Given the description of an element on the screen output the (x, y) to click on. 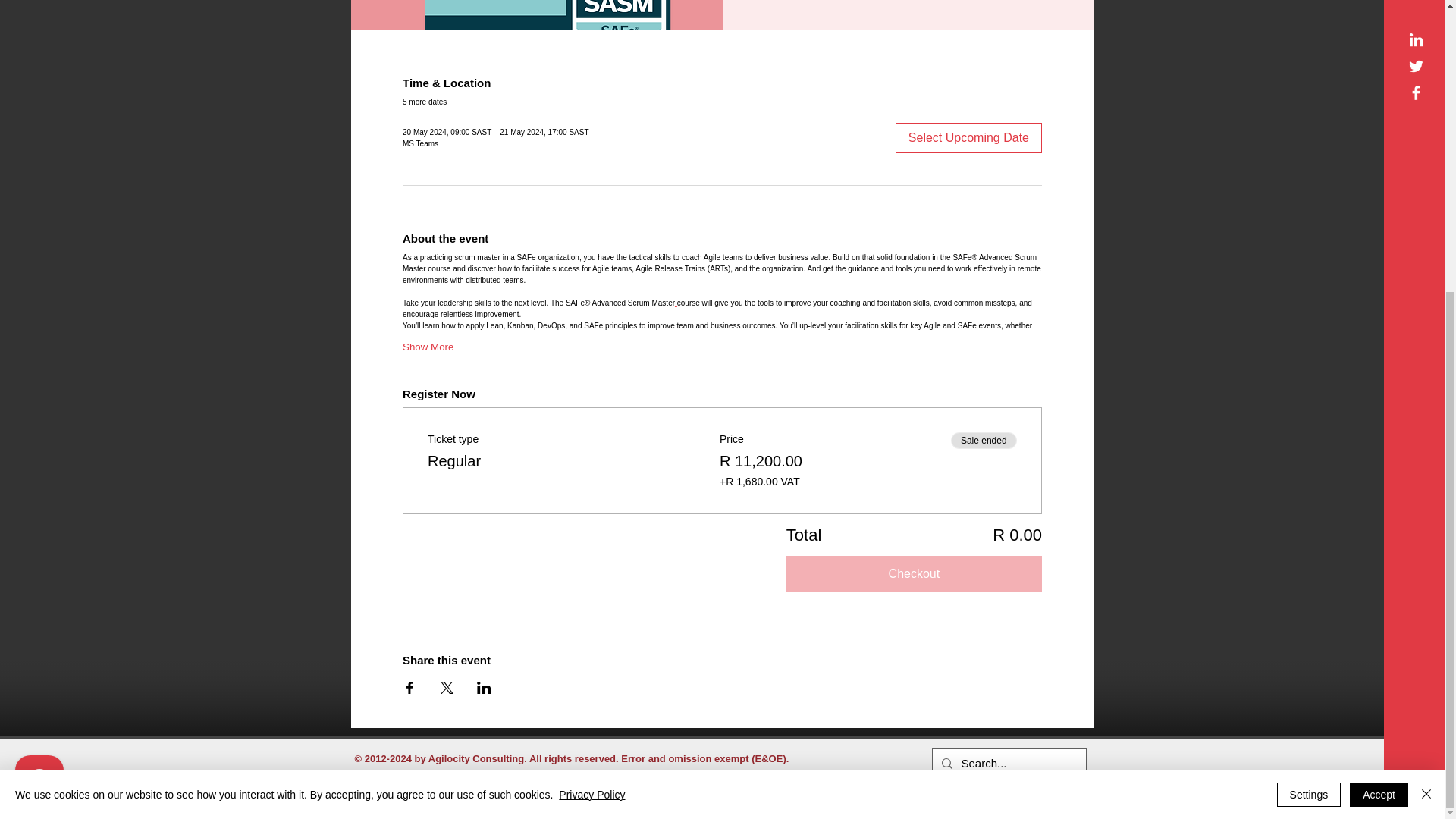
Wix Chat (35, 337)
Select Upcoming Date (968, 137)
Show More (427, 346)
